Given the description of an element on the screen output the (x, y) to click on. 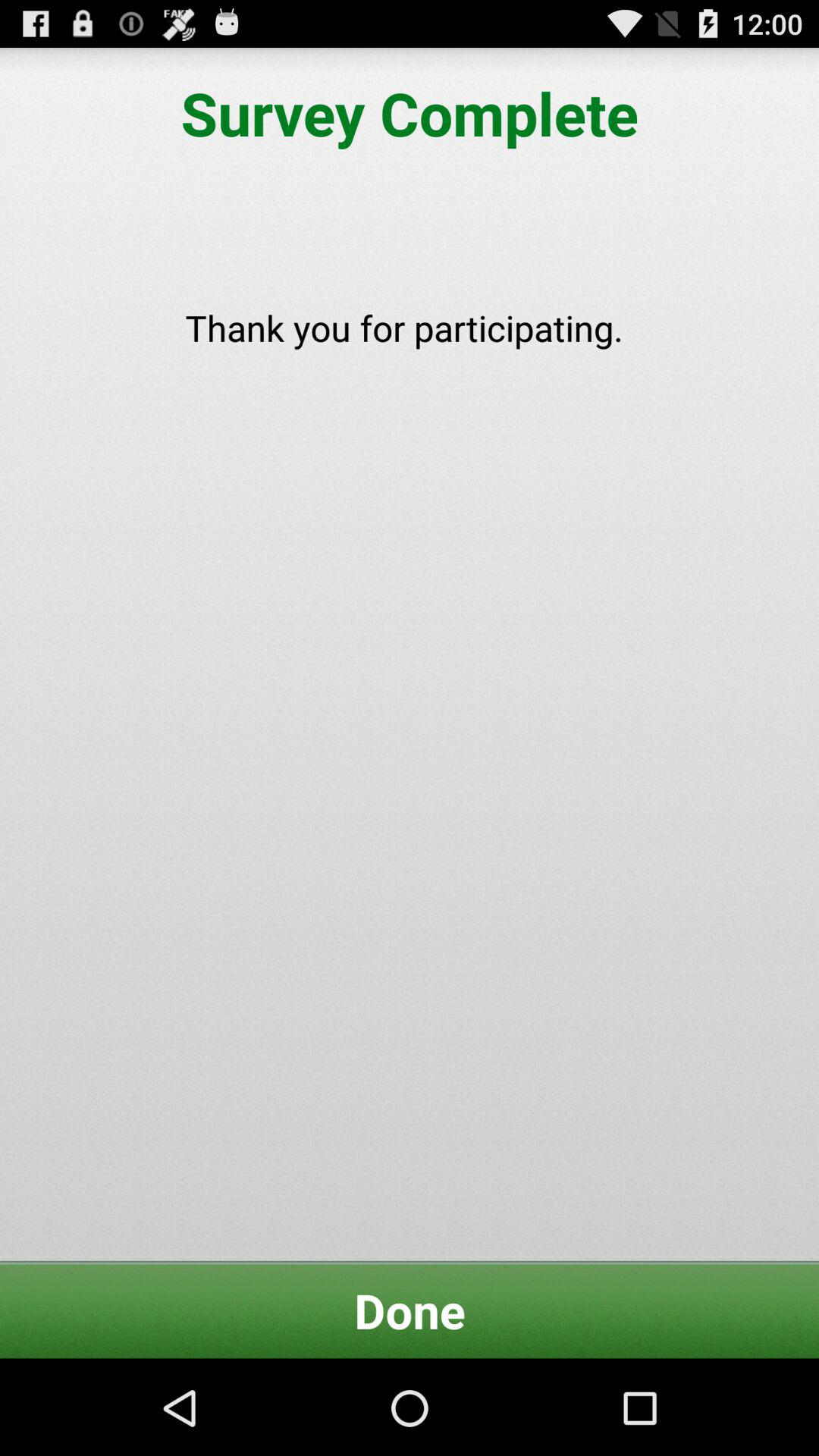
swipe to done (409, 1310)
